Given the description of an element on the screen output the (x, y) to click on. 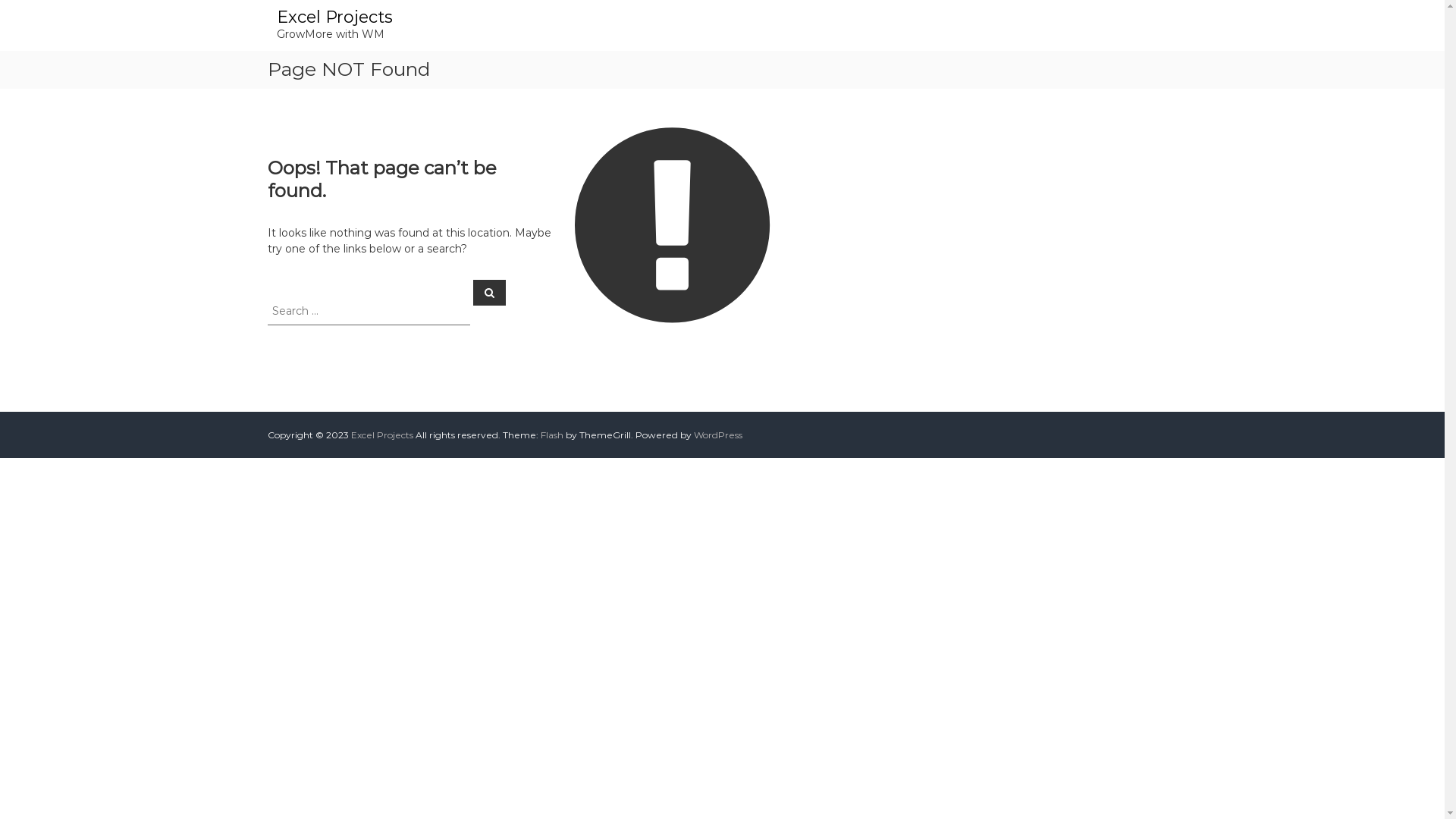
WordPress Element type: text (717, 434)
Flash Element type: text (550, 434)
Excel Projects Element type: text (334, 16)
Excel Projects Element type: text (381, 434)
Search Element type: text (489, 291)
